Given the description of an element on the screen output the (x, y) to click on. 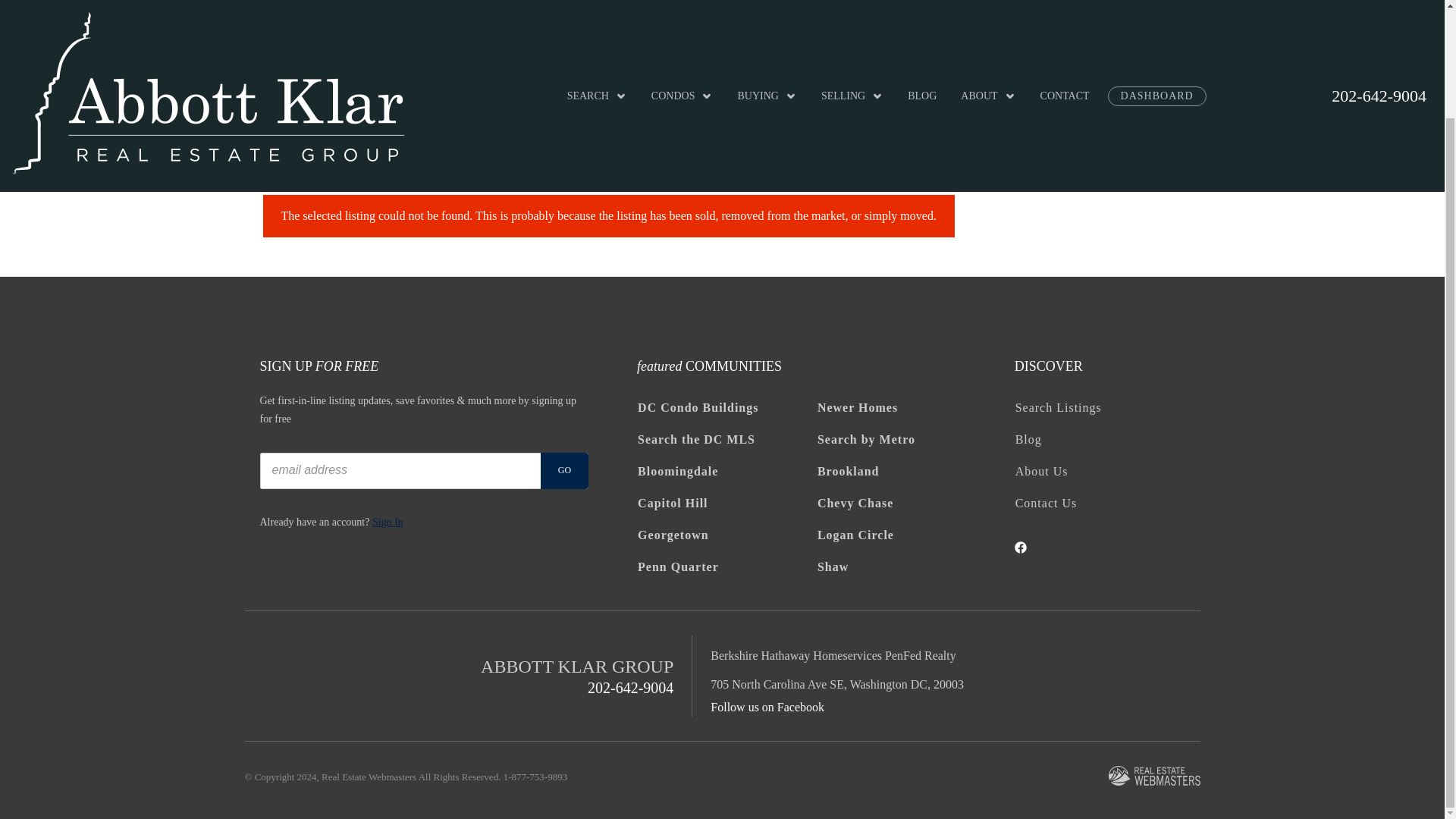
Newer Homes (905, 408)
GO (564, 470)
Penn Quarter (726, 567)
Logan Circle (905, 535)
Chevy Chase (905, 503)
DC Condos (726, 408)
Bloomingdale (726, 471)
Real Estate Webmasters (1153, 776)
Sign In (387, 521)
Capitol Hill (726, 503)
Georgetown (726, 535)
Washington DC MLS (726, 439)
Shaw (905, 567)
Facebook Icon (1020, 547)
Site Logo (207, 23)
